Given the description of an element on the screen output the (x, y) to click on. 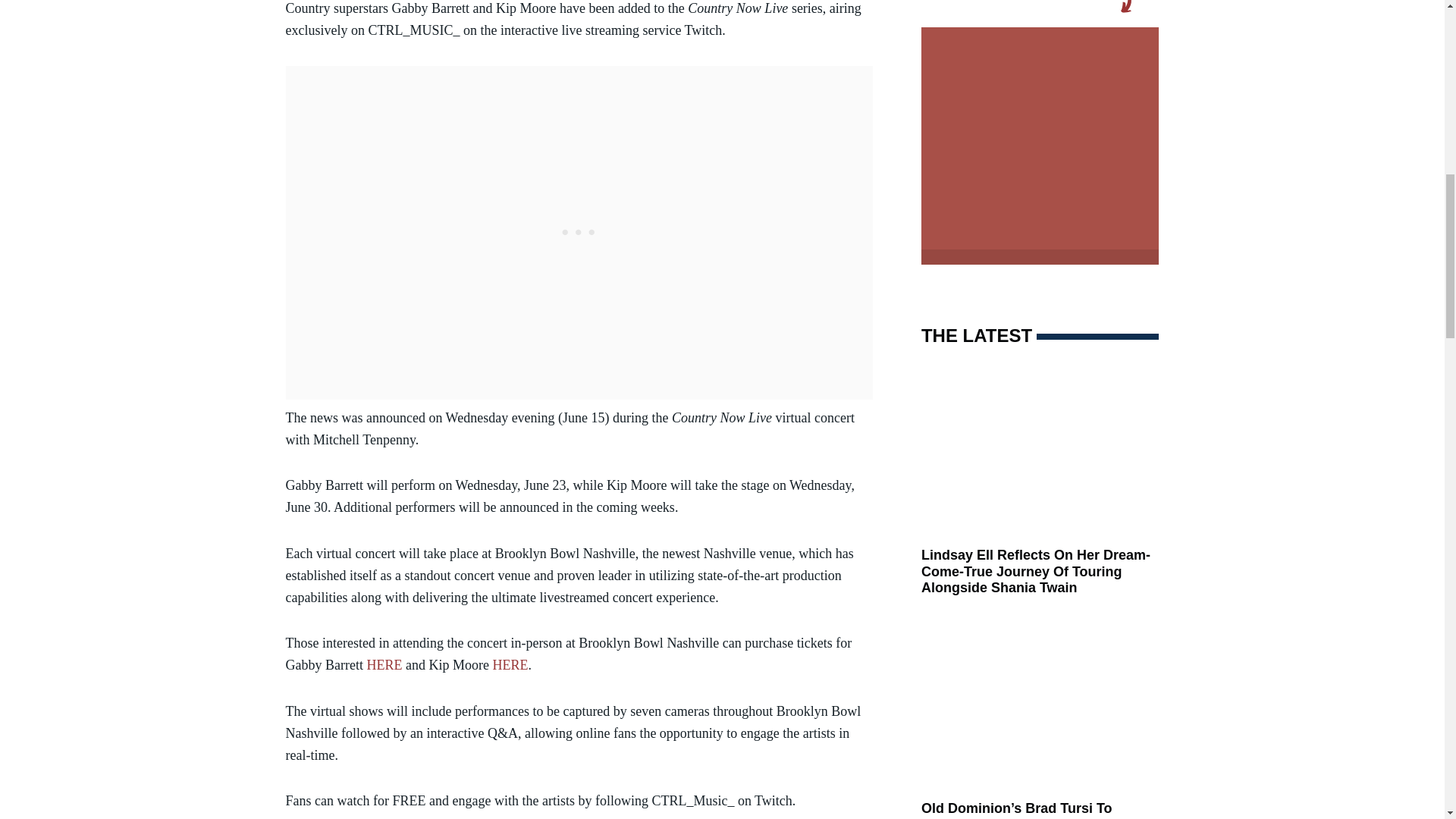
HERE (383, 664)
HERE (509, 664)
